Given the description of an element on the screen output the (x, y) to click on. 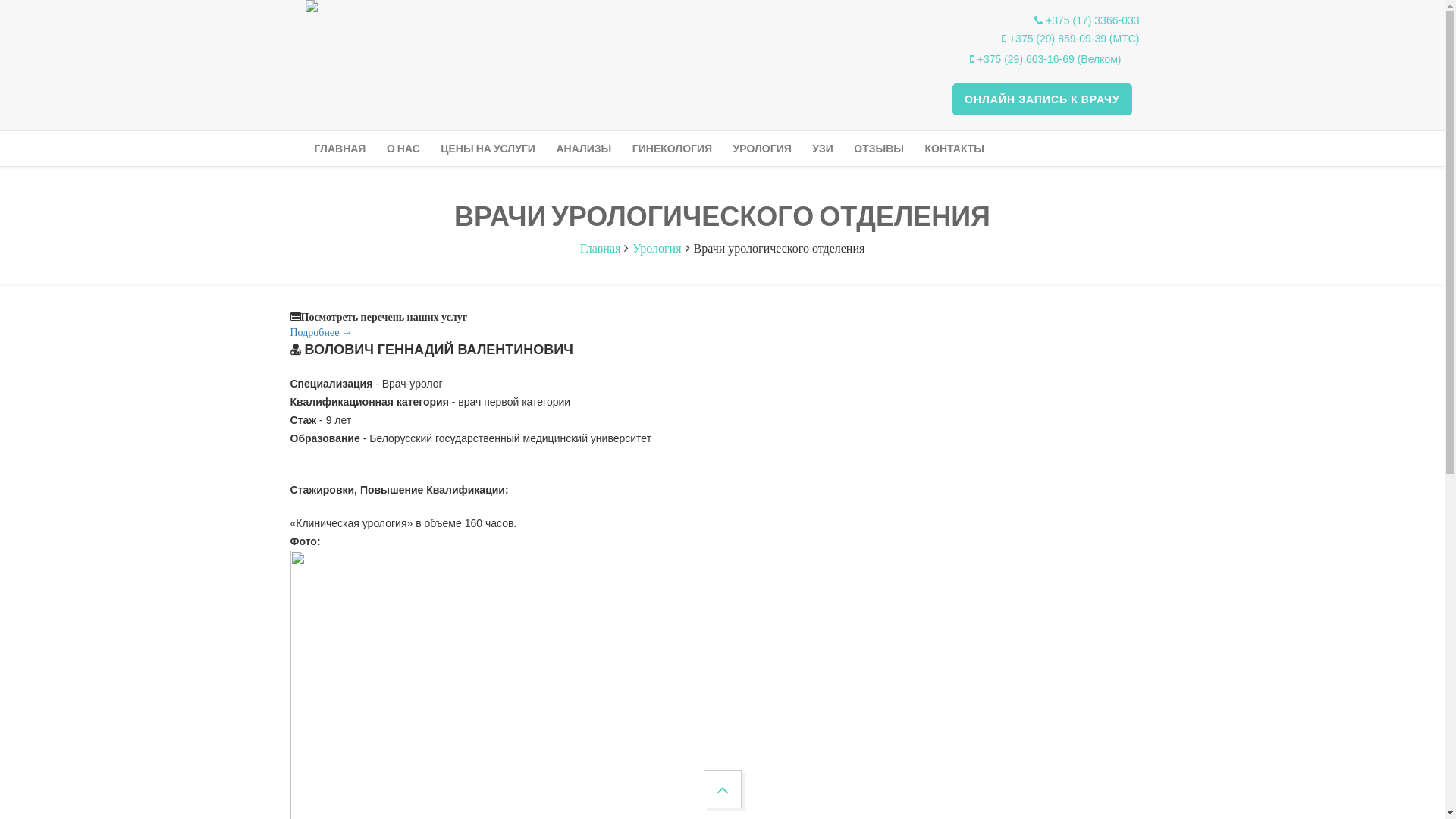
+375 (17) 3366-033 Element type: text (1086, 20)
